Given the description of an element on the screen output the (x, y) to click on. 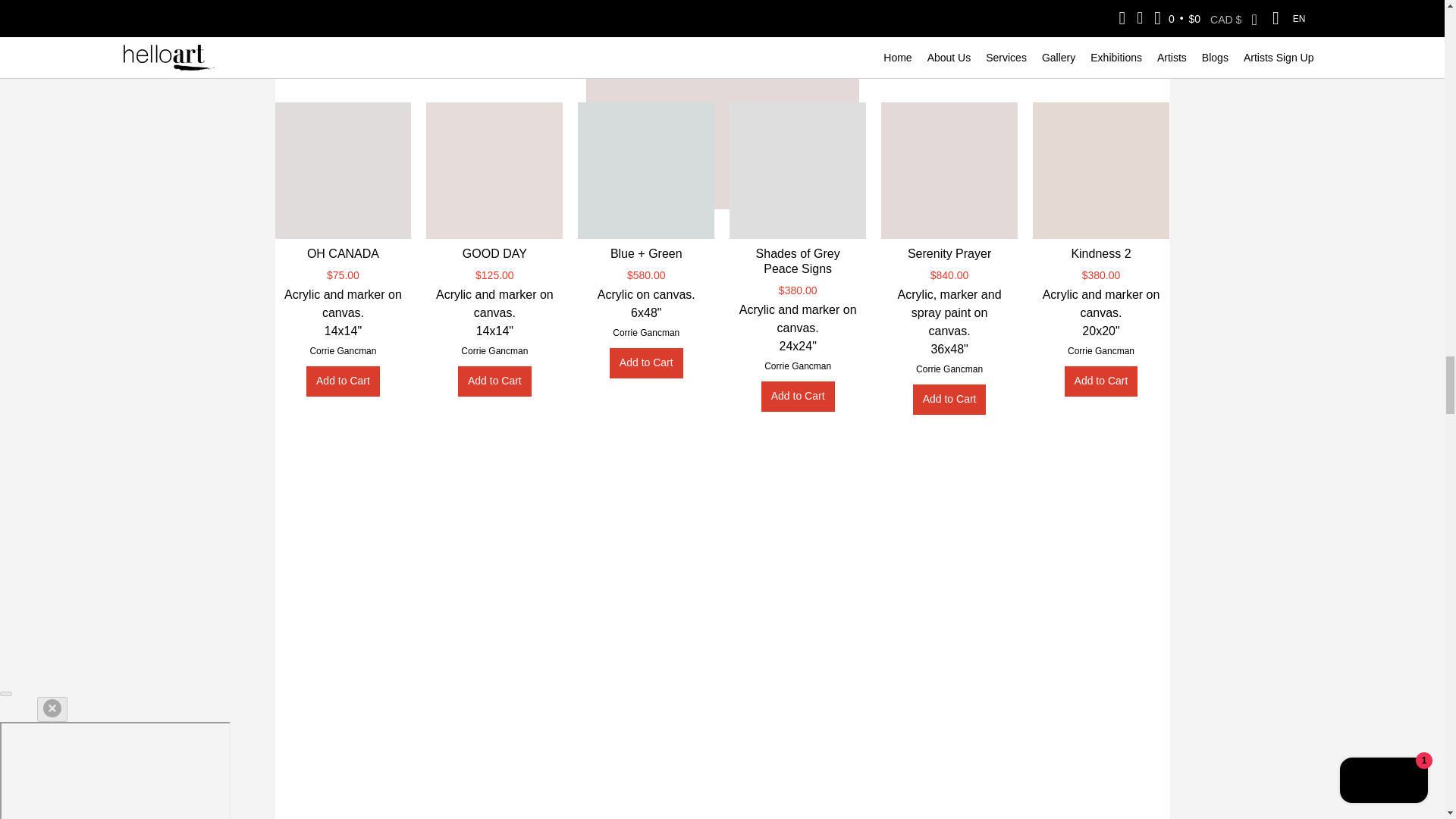
Add to Cart (342, 381)
Add to Cart (646, 363)
Add to Cart (949, 399)
Add to Cart (1101, 381)
Add to Cart (797, 396)
Add to Cart (494, 381)
